Given the description of an element on the screen output the (x, y) to click on. 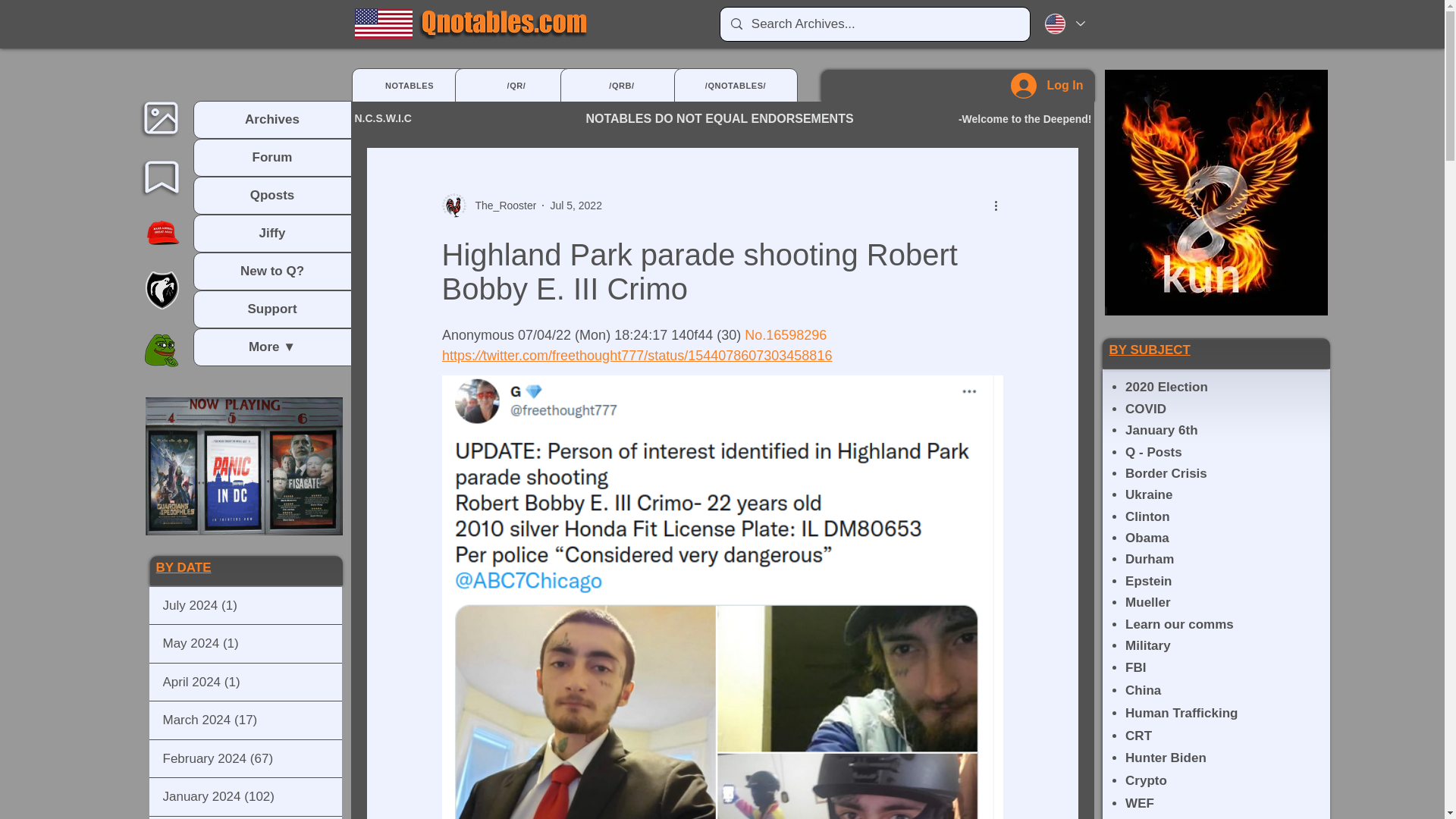
No. (754, 335)
These videos may change or be added to from time to time.  (243, 466)
16598296 (796, 335)
NOTABLES (409, 85)
https: (457, 355)
Jul 5, 2022 (576, 204)
